Given the description of an element on the screen output the (x, y) to click on. 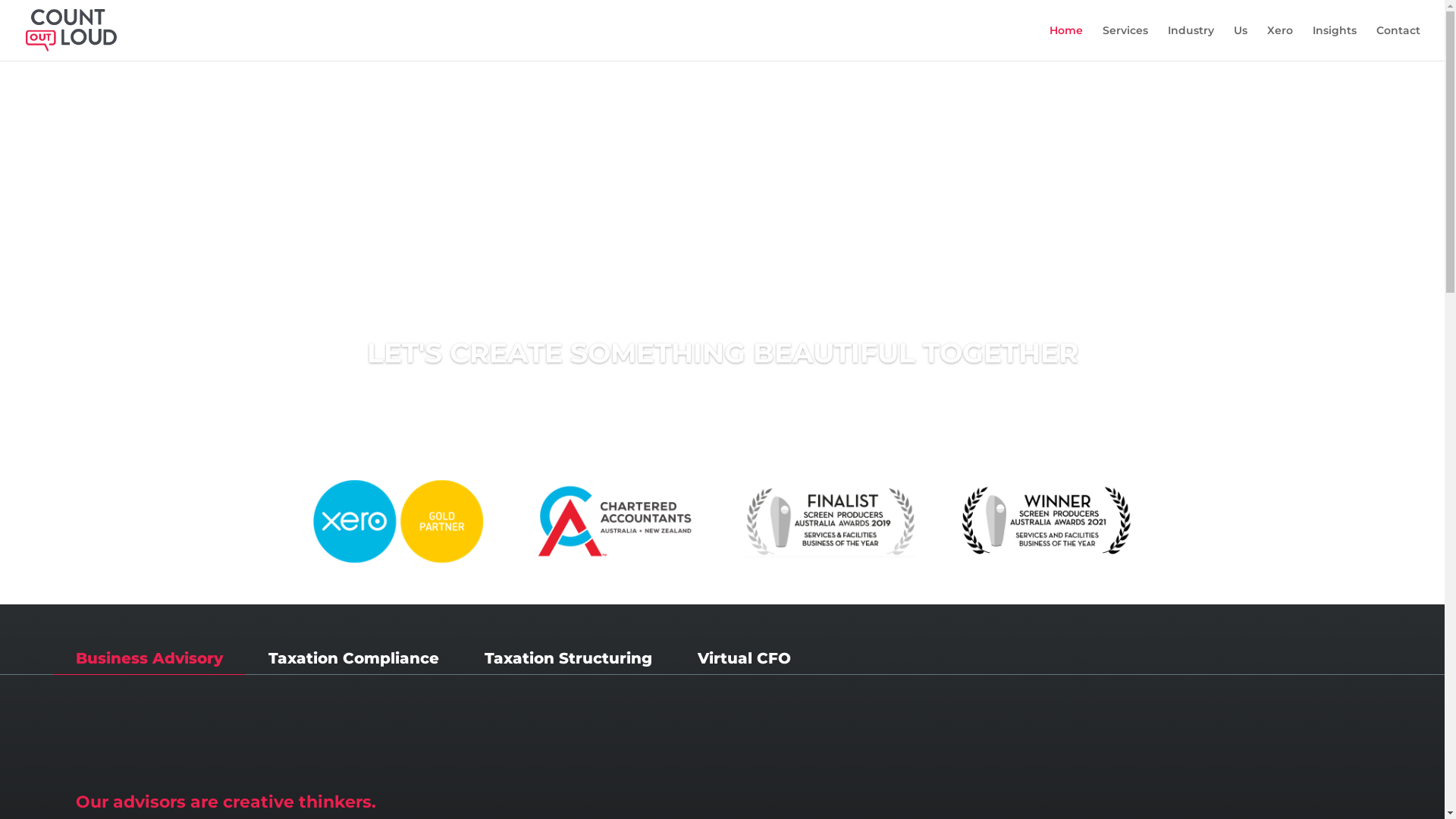
Us Element type: text (1240, 42)
1 Element type: text (709, 408)
Industry Element type: text (1190, 42)
CA Element type: hover (613, 521)
Contact Element type: text (1398, 42)
2 Element type: text (721, 408)
Taxation Structuring Element type: text (567, 658)
Xero Element type: text (1279, 42)
spa-finalist-2023 Element type: hover (829, 521)
SPA-Awards-2022-Winner Element type: hover (1045, 521)
Home Element type: text (1065, 42)
Virtual CFO Element type: text (743, 658)
Insights Element type: text (1334, 42)
Taxation Compliance Element type: text (353, 658)
3 Element type: text (734, 408)
Business Advisory Element type: text (149, 658)
Services Element type: text (1125, 42)
